Given the description of an element on the screen output the (x, y) to click on. 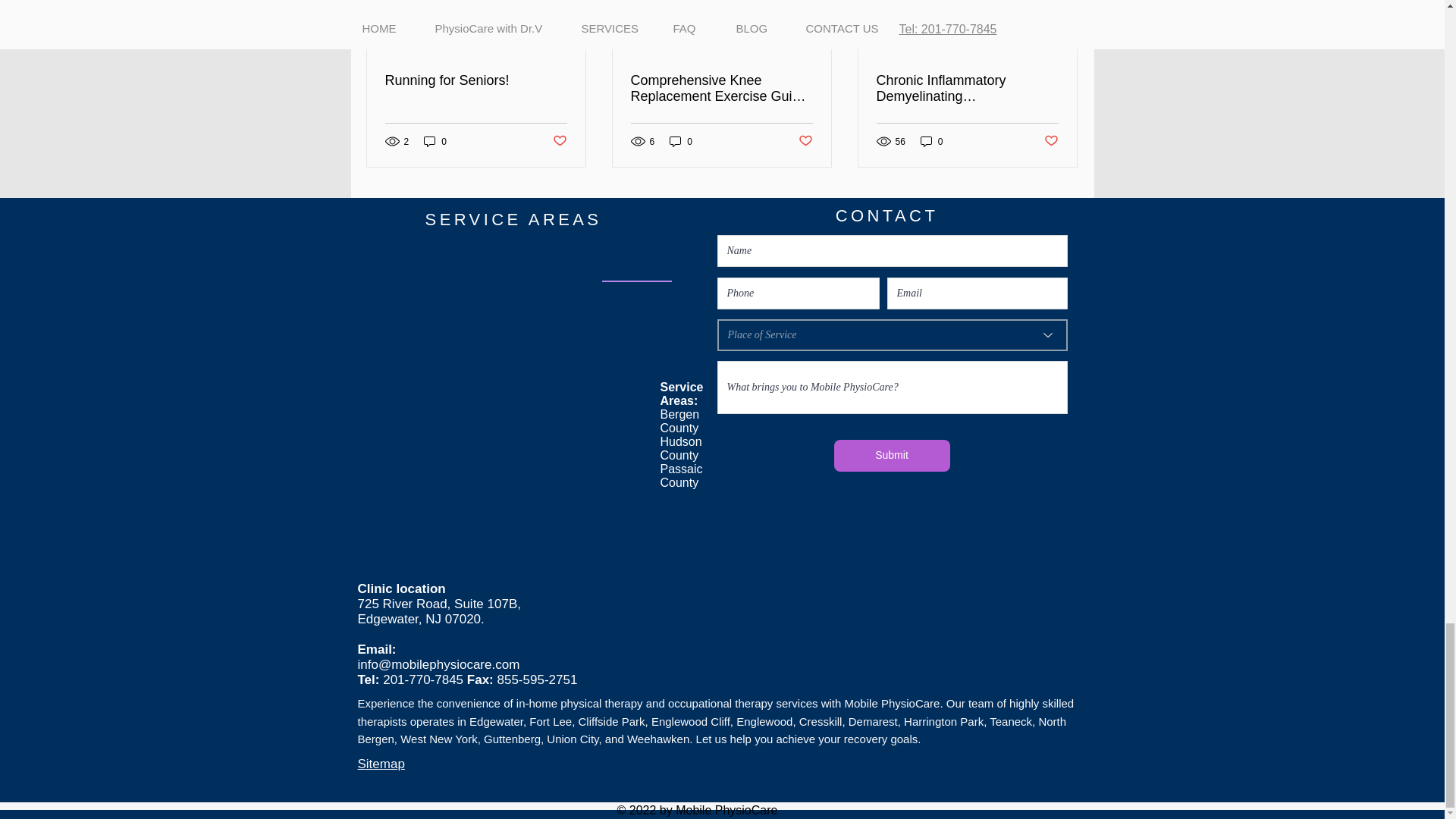
Post not marked as liked (558, 141)
0 (681, 141)
Running for Seniors! (476, 80)
Post not marked as liked (804, 141)
0 (435, 141)
